Given the description of an element on the screen output the (x, y) to click on. 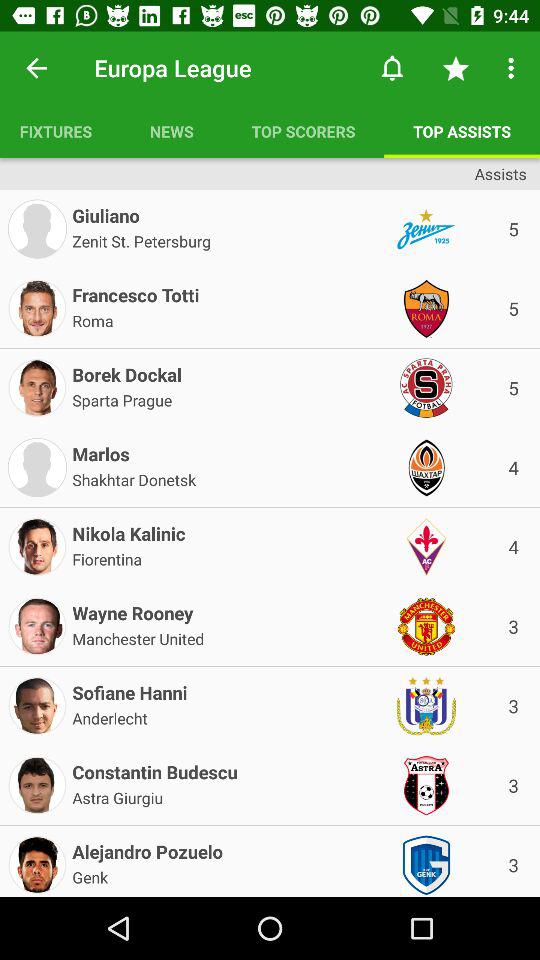
turn on shakhtar donetsk item (134, 478)
